Given the description of an element on the screen output the (x, y) to click on. 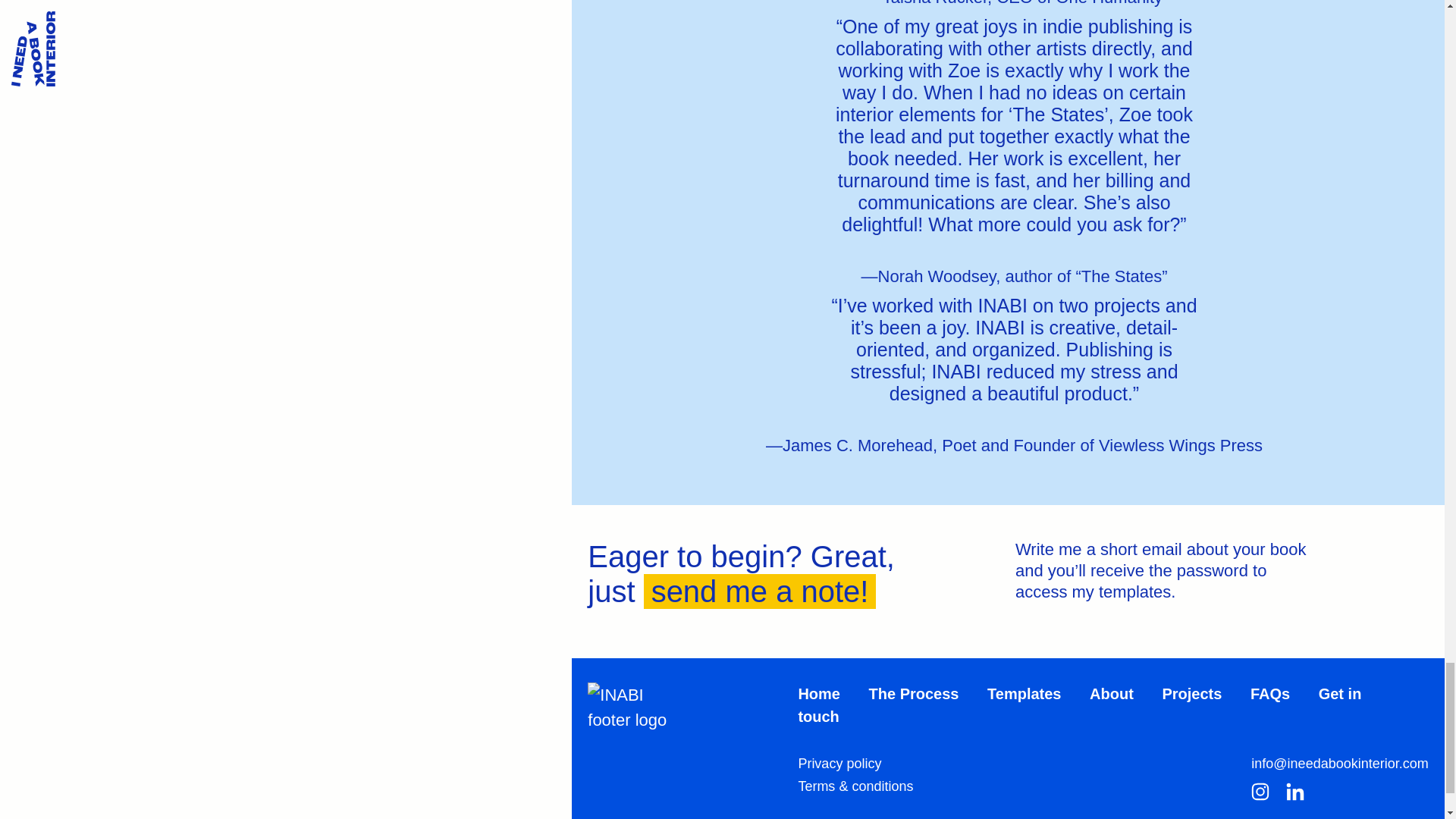
Home (818, 693)
Get in touch (1079, 704)
The Process (914, 693)
FAQs (1270, 693)
Projects (1191, 693)
Instagram link opens in new tab (1259, 794)
Templates (1024, 693)
About (1111, 693)
